Given the description of an element on the screen output the (x, y) to click on. 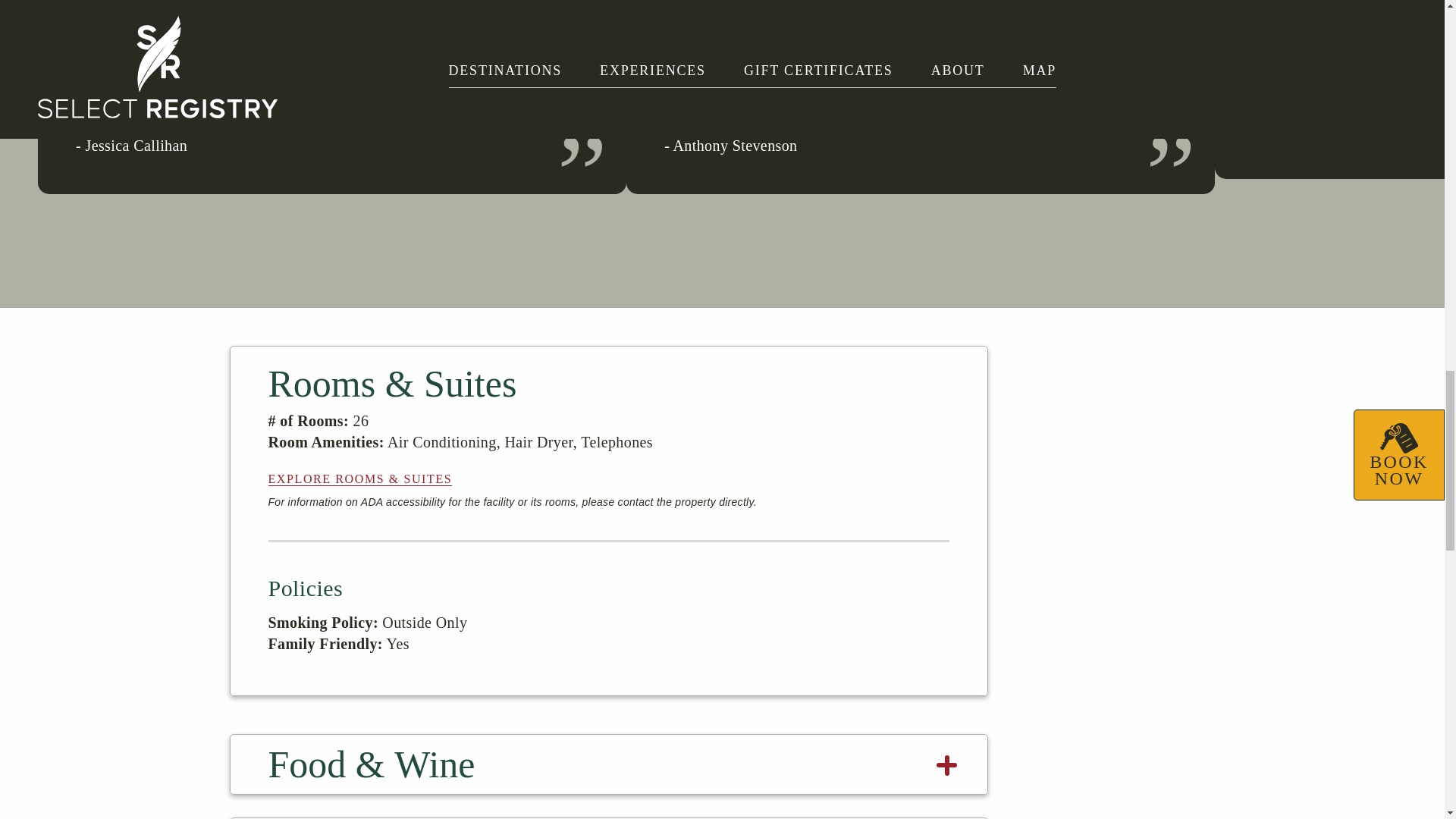
Jessica Callihan (90, 36)
a month ago (331, 109)
3 months ago (919, 109)
Alice DeForest (1267, 36)
Anthony Stevenson (678, 36)
